Given the description of an element on the screen output the (x, y) to click on. 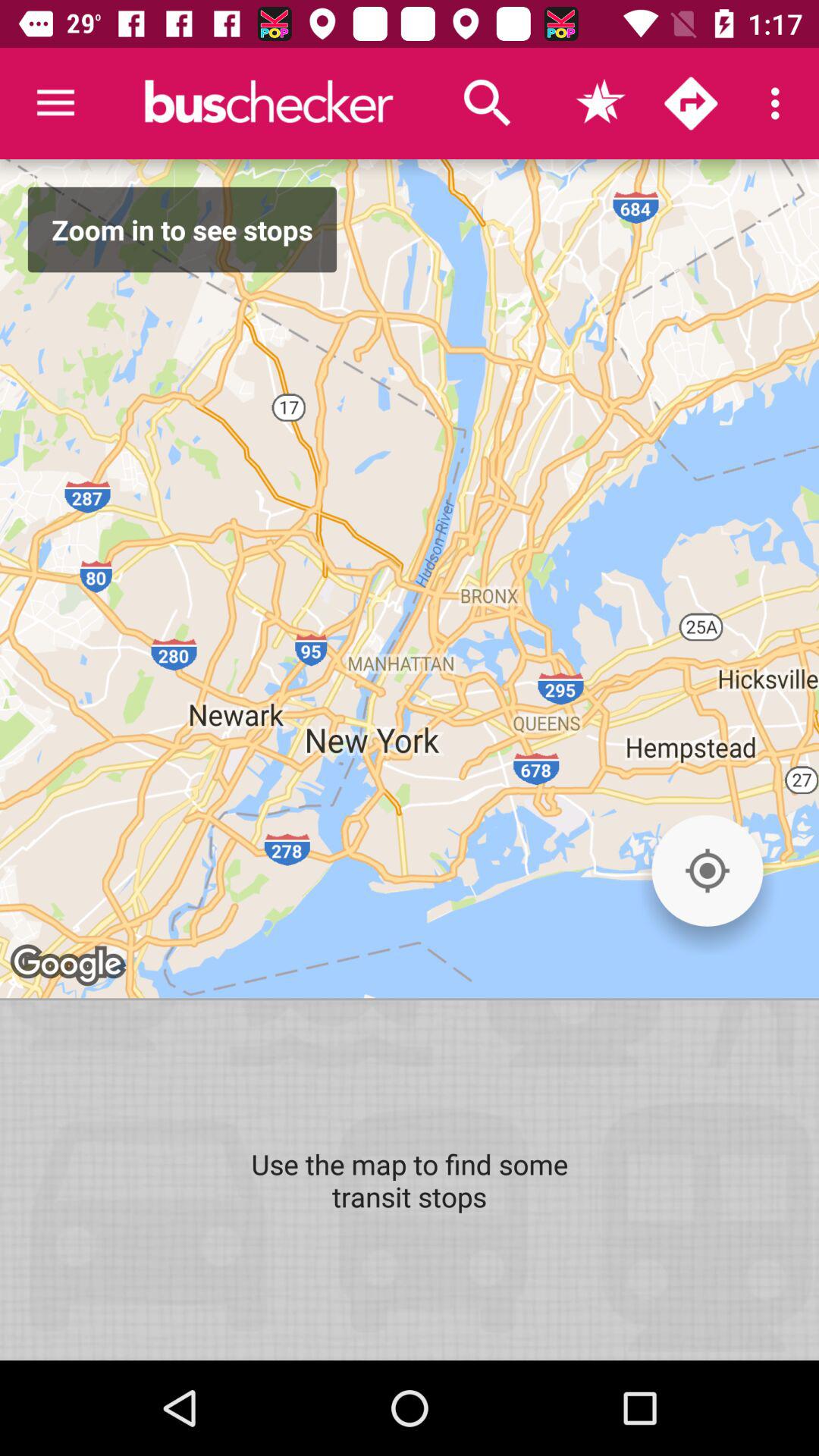
press the icon on the right (707, 870)
